Given the description of an element on the screen output the (x, y) to click on. 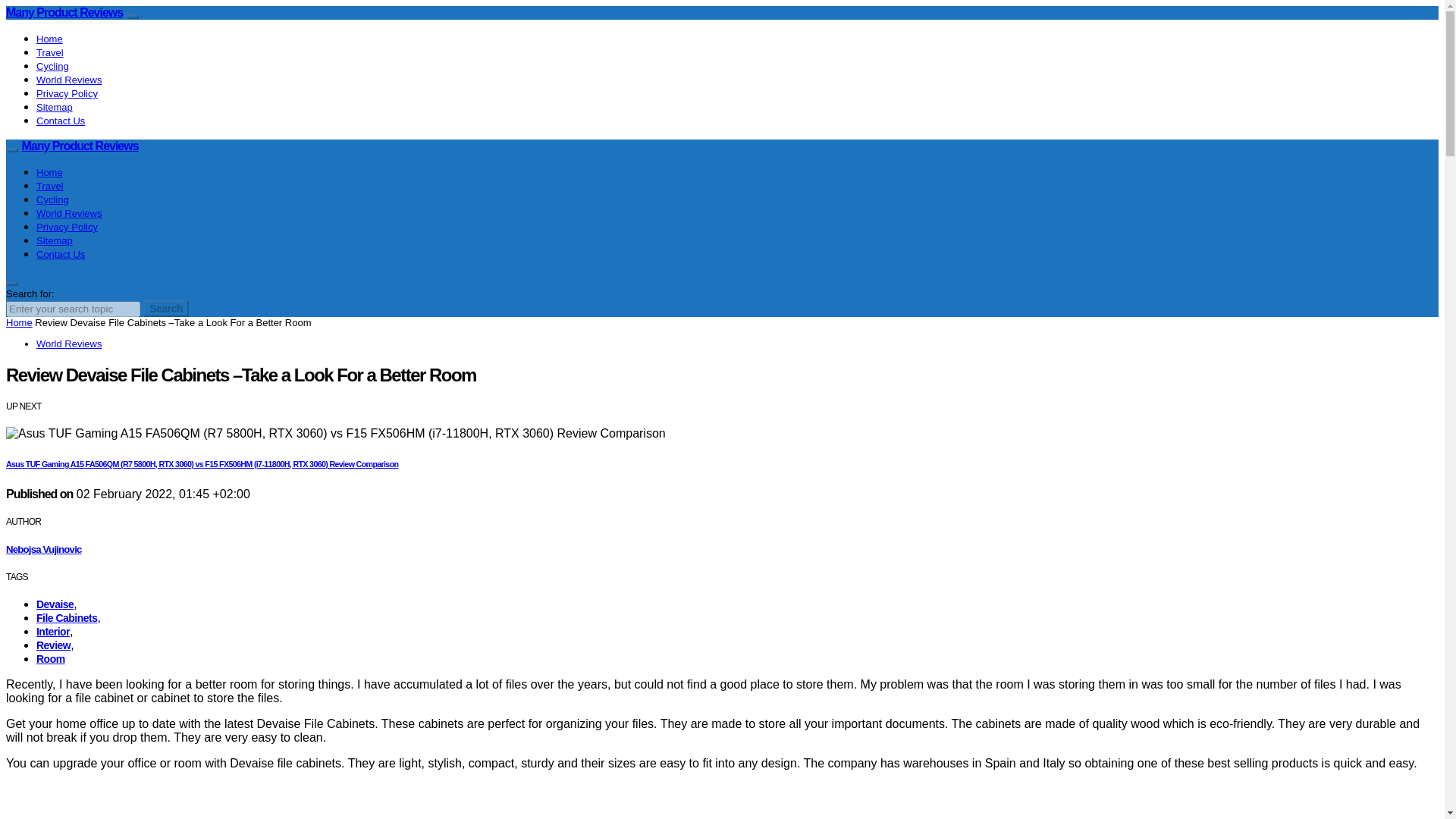
Interior (52, 631)
File Cabinets (66, 617)
Home (49, 172)
Home (49, 39)
Home (18, 322)
Review (52, 645)
Travel (50, 52)
Sitemap (54, 107)
World Reviews (68, 343)
Privacy Policy (66, 226)
